Given the description of an element on the screen output the (x, y) to click on. 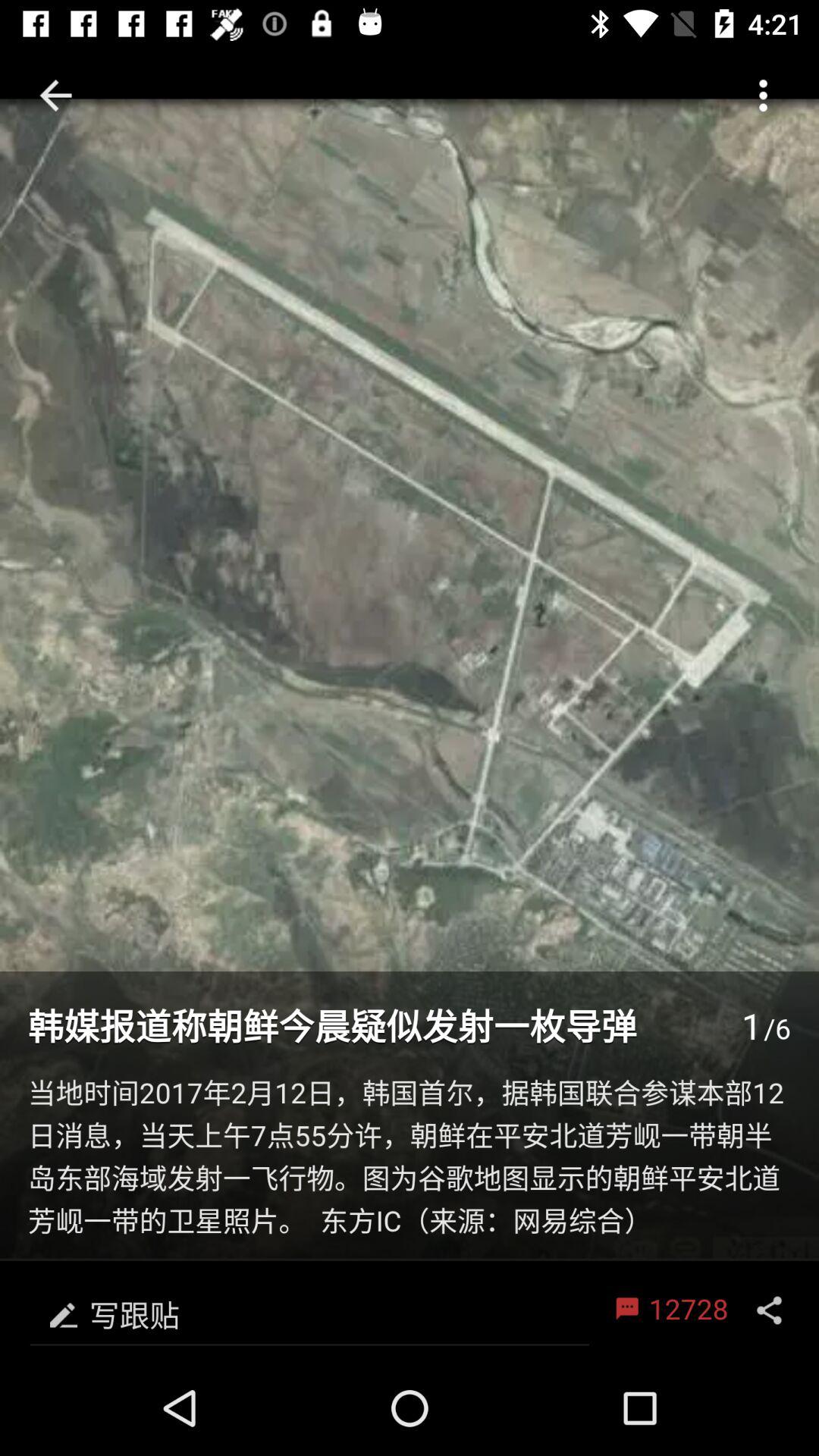
scroll until 12728 icon (668, 1310)
